Given the description of an element on the screen output the (x, y) to click on. 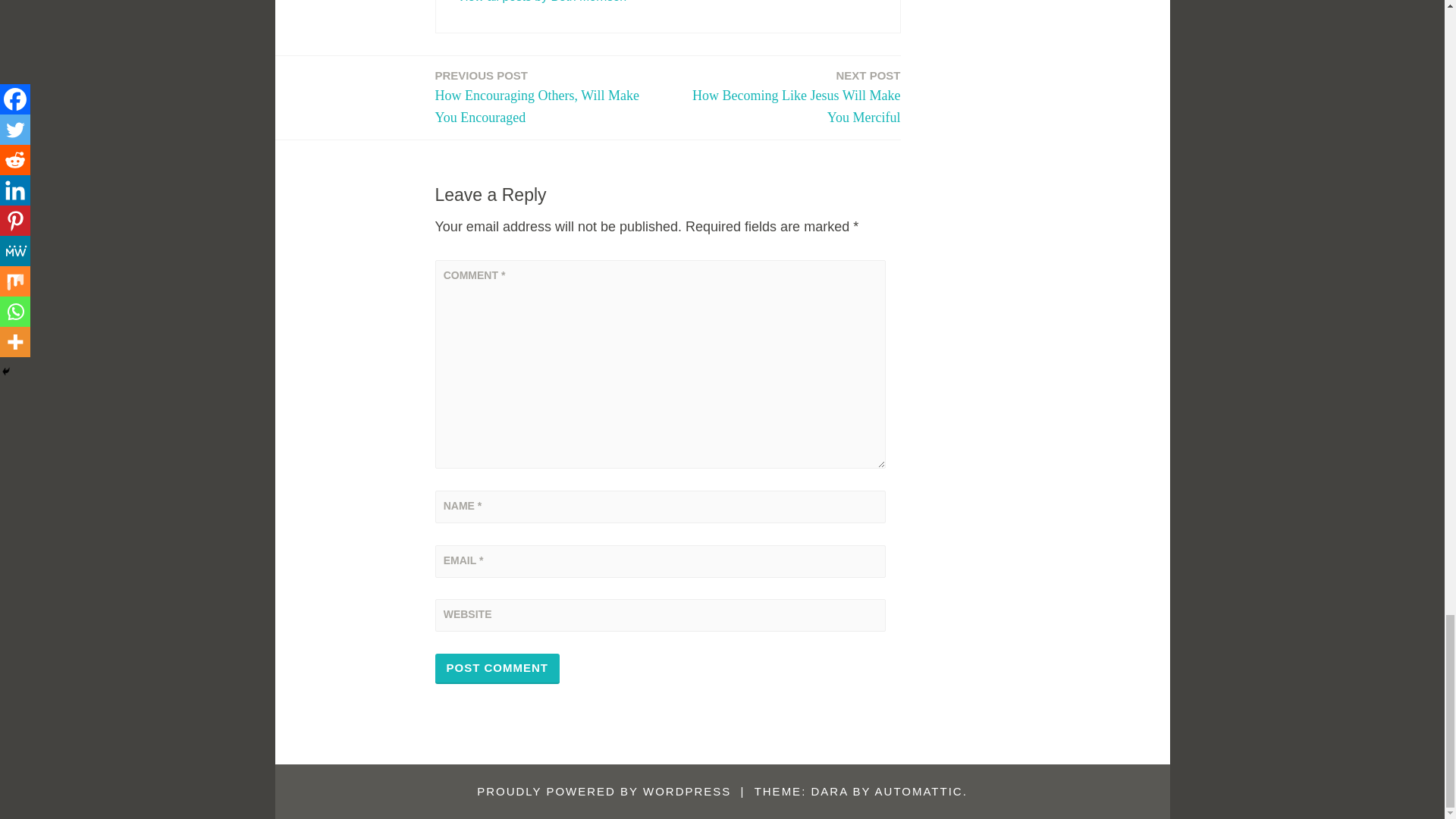
Post Comment (789, 97)
View all posts by Beth Morrison (497, 668)
Post Comment (541, 1)
